Given the description of an element on the screen output the (x, y) to click on. 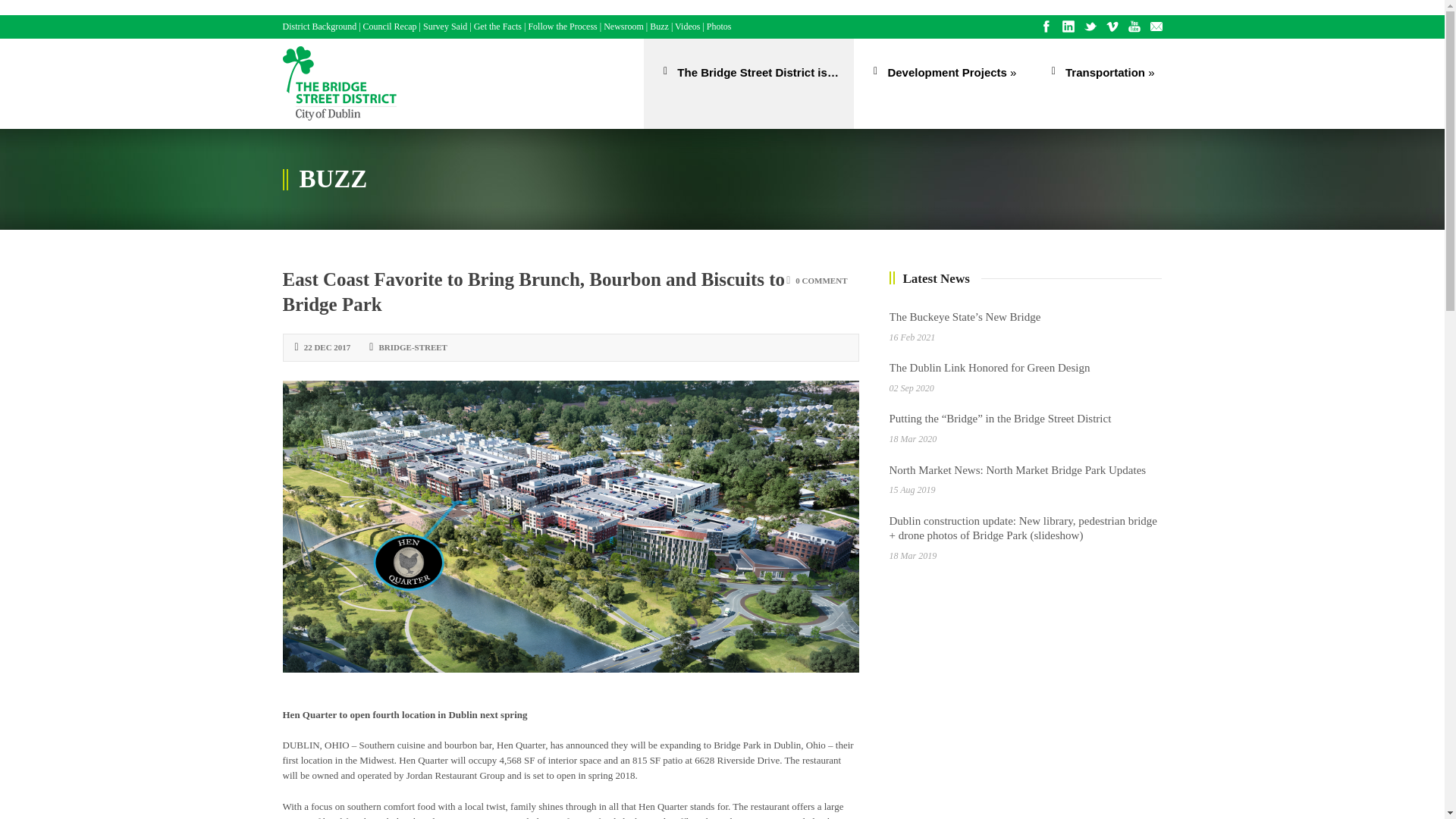
Survey Said (445, 26)
District Background (319, 26)
22 DEC 2017 (327, 347)
BRIDGE-STREET (412, 347)
Buzz (658, 26)
Get the Facts (497, 26)
0 COMMENT (820, 280)
Newsroom (623, 26)
Follow the Process (561, 26)
Posts by bridge-street (412, 347)
Videos (687, 26)
Council Recap (389, 26)
Photos (719, 26)
